Given the description of an element on the screen output the (x, y) to click on. 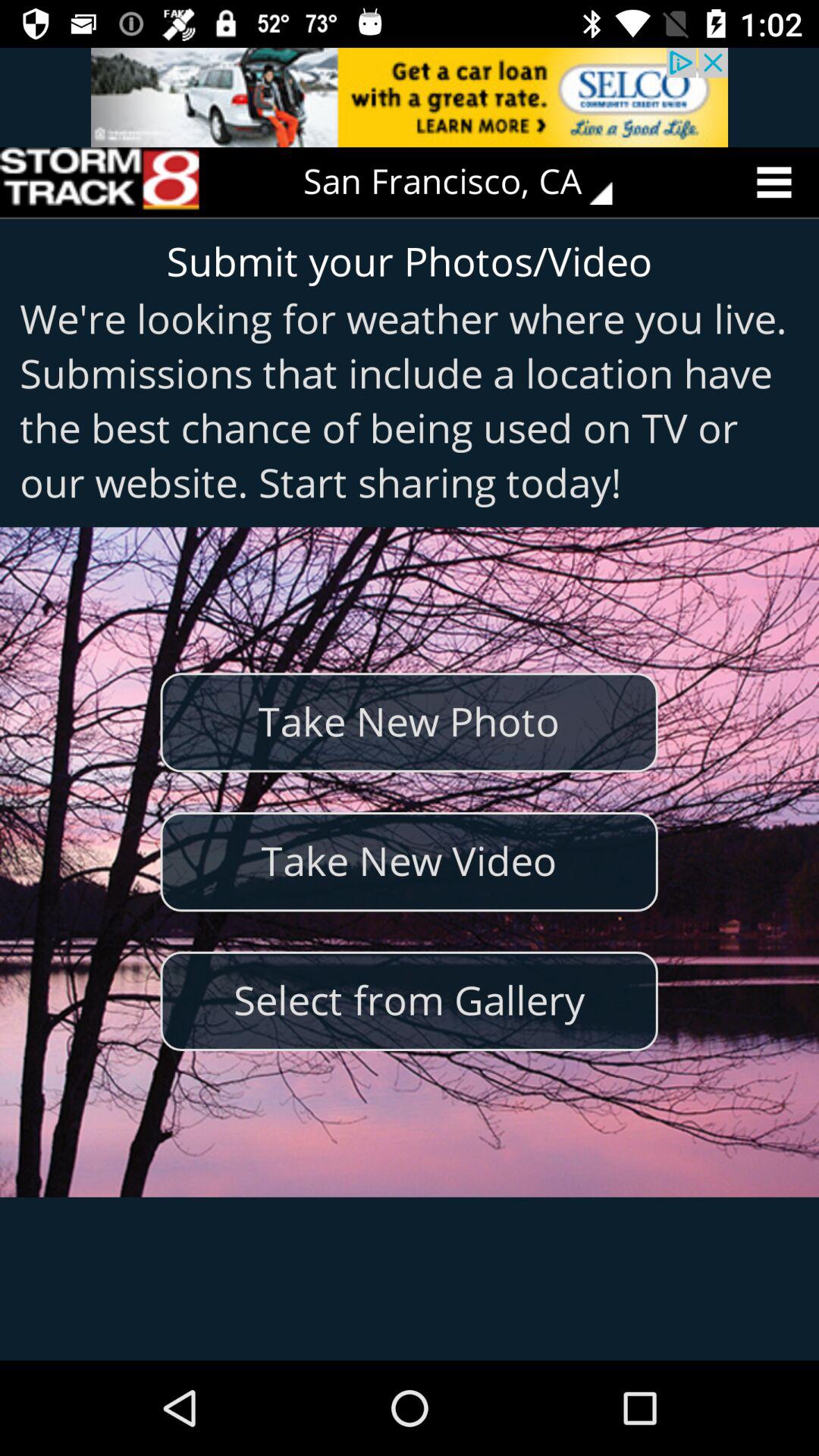
select the icon at the top left corner (99, 182)
